Given the description of an element on the screen output the (x, y) to click on. 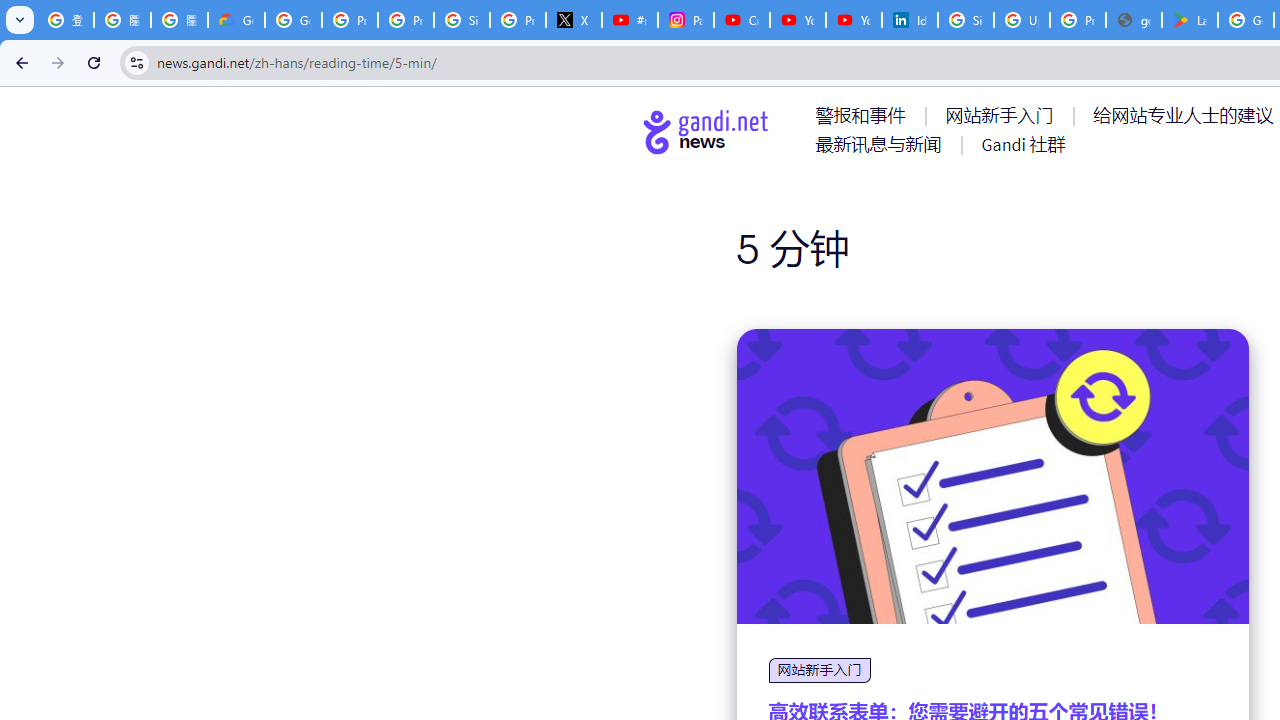
#nbabasketballhighlights - YouTube (629, 20)
Privacy Help Center - Policies Help (349, 20)
X (573, 20)
Google Cloud Privacy Notice (235, 20)
AutomationID: menu-item-77767 (1022, 143)
Forward (57, 62)
System (10, 11)
AutomationID: menu-item-77761 (863, 115)
google_privacy_policy_en.pdf (1133, 20)
Sign in - Google Accounts (966, 20)
